Given the description of an element on the screen output the (x, y) to click on. 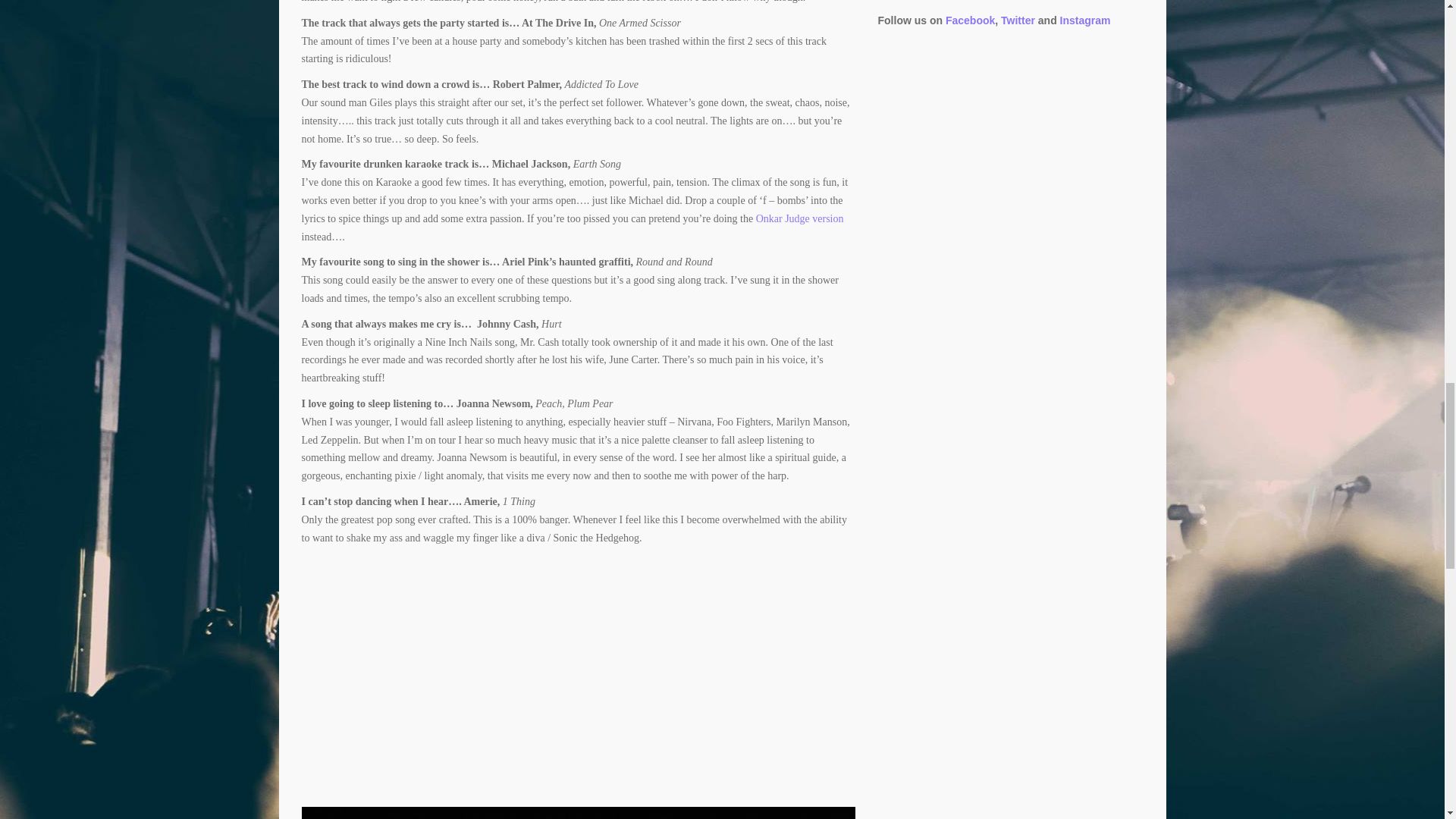
Onkar Judge version (799, 218)
